Given the description of an element on the screen output the (x, y) to click on. 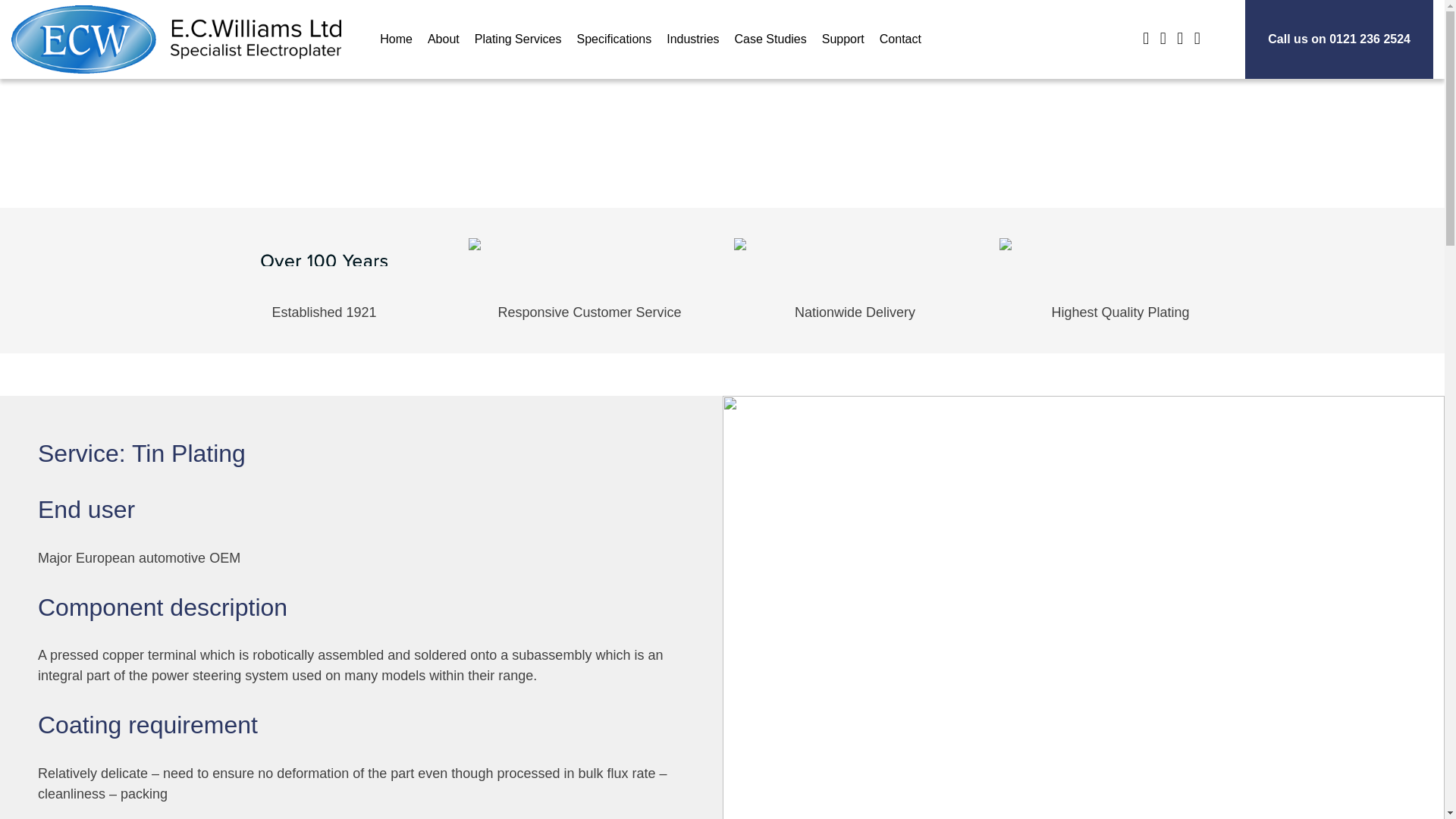
Home (396, 39)
Support (842, 39)
Contact (900, 39)
About (443, 39)
Specifications (614, 39)
Industries (692, 39)
Case Studies (769, 39)
0121 236 2524 (1369, 38)
Plating Services (518, 39)
